Given the description of an element on the screen output the (x, y) to click on. 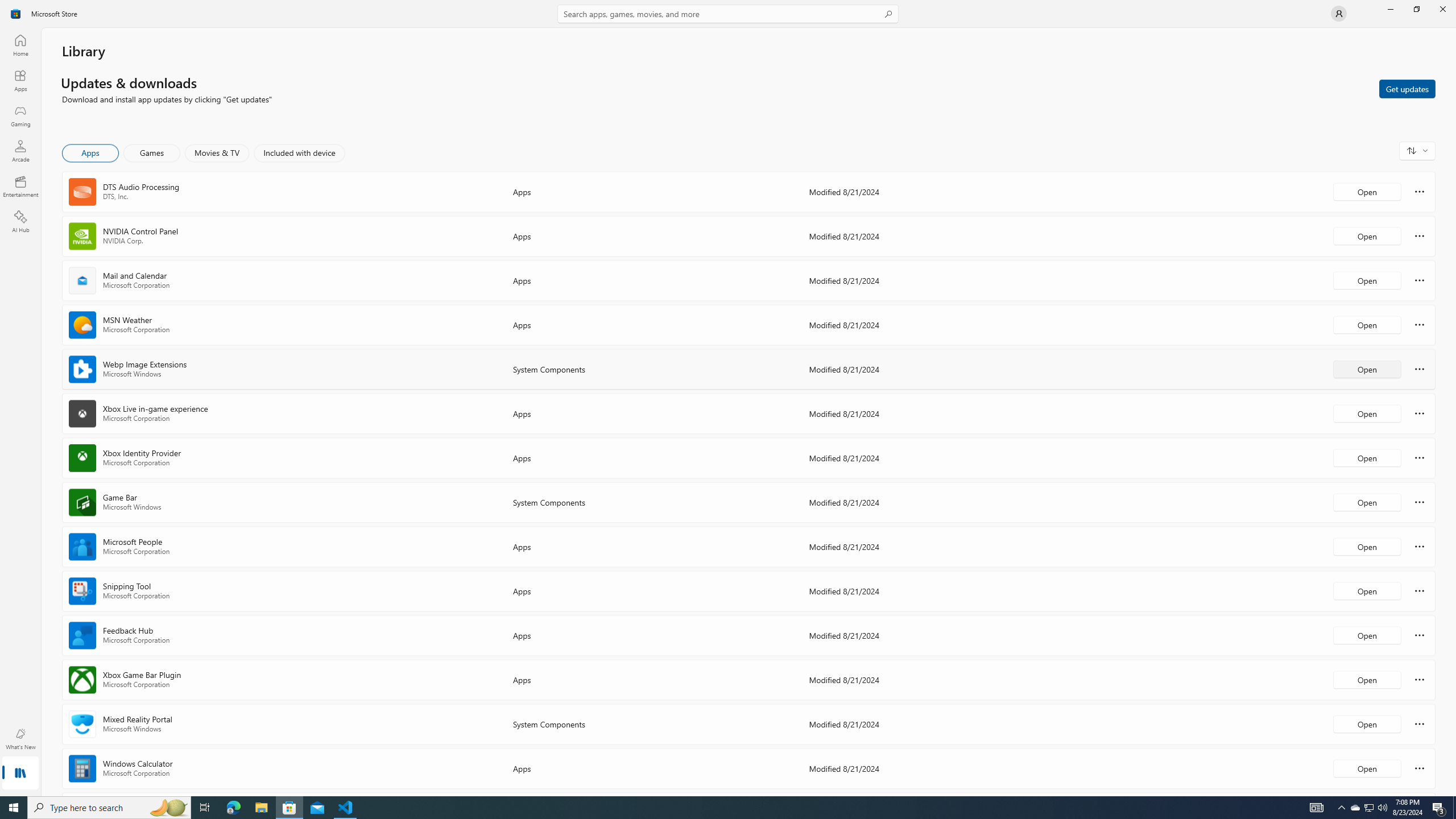
Search (727, 13)
Movies & TV (216, 153)
